Given the description of an element on the screen output the (x, y) to click on. 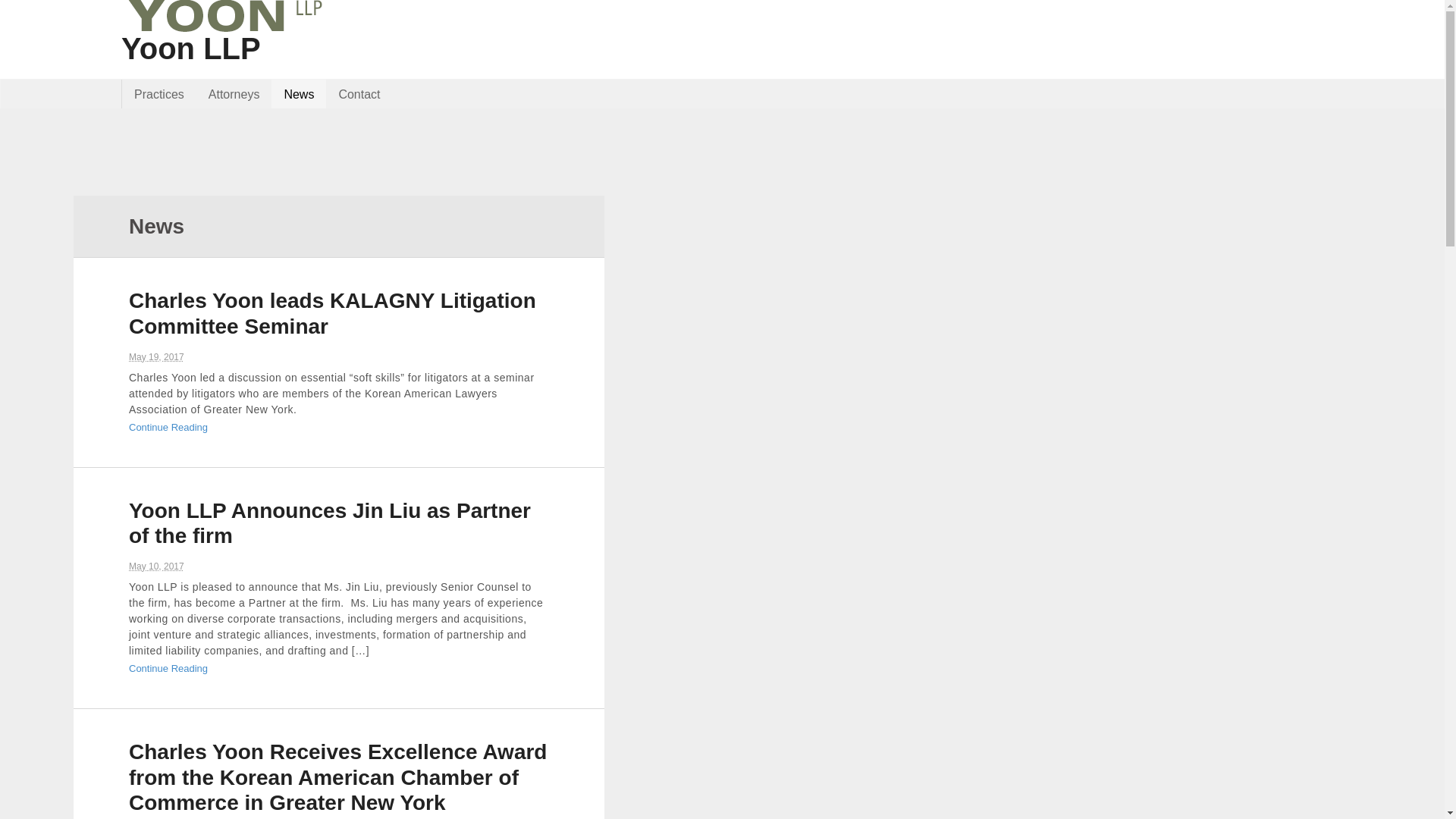
Yoon LLP Announces Jin Liu as Partner of the firm (330, 522)
Continue Reading (168, 668)
Continue Reading (168, 668)
Attorneys (234, 93)
Practices (159, 93)
2017-05-19T11:24:29-0400 (156, 357)
Contact (358, 93)
News (298, 93)
Continue Reading (168, 427)
Yoon LLP (190, 48)
Continue Reading (168, 427)
Charles Yoon leads KALAGNY Litigation Committee Seminar (332, 313)
2017-05-10T14:15:26-0400 (156, 566)
